Given the description of an element on the screen output the (x, y) to click on. 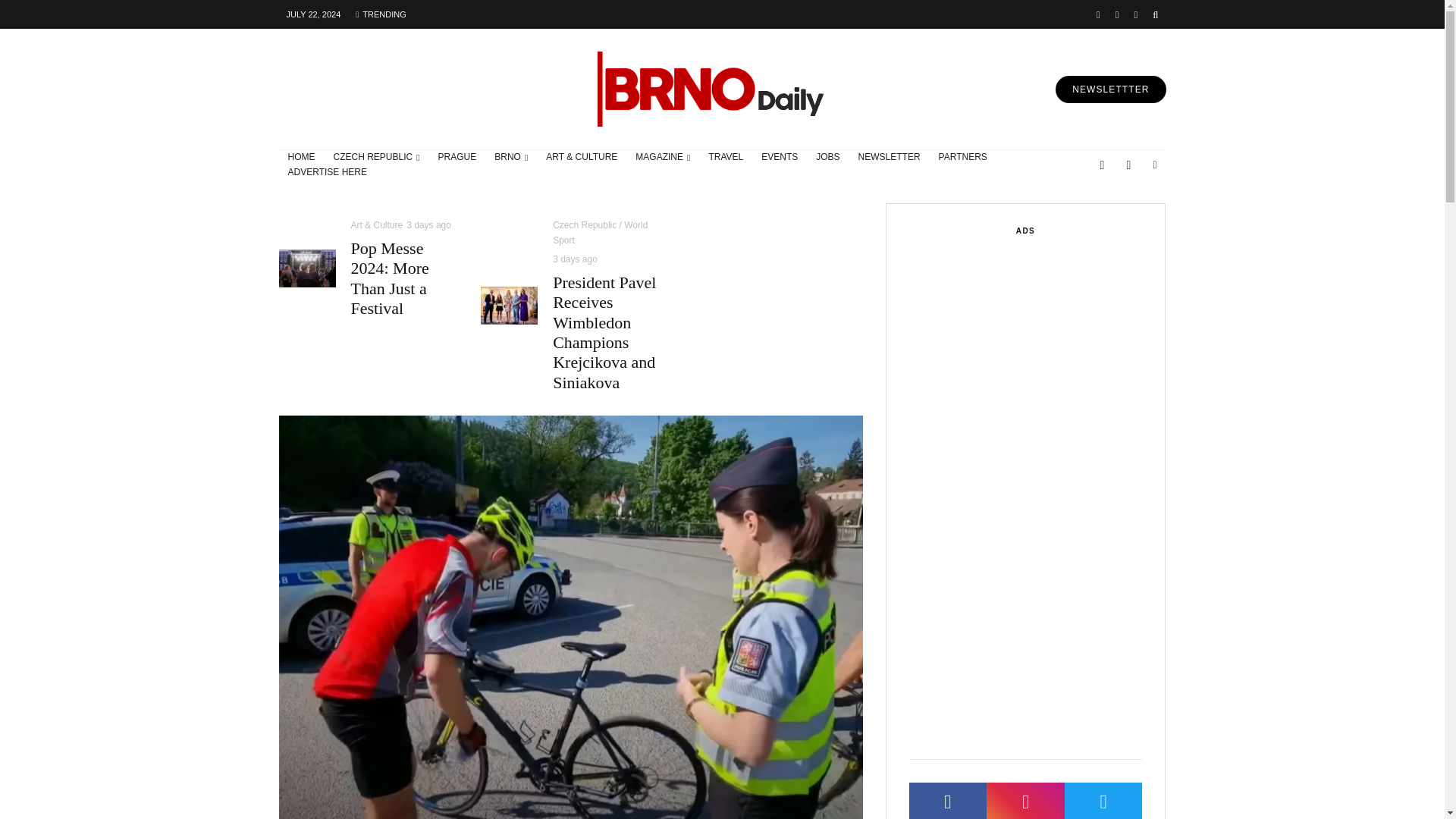
HOME (301, 157)
NEWSLETTTER (1110, 89)
TRENDING (380, 14)
PRAGUE (457, 157)
CZECH REPUBLIC (376, 157)
